Given the description of an element on the screen output the (x, y) to click on. 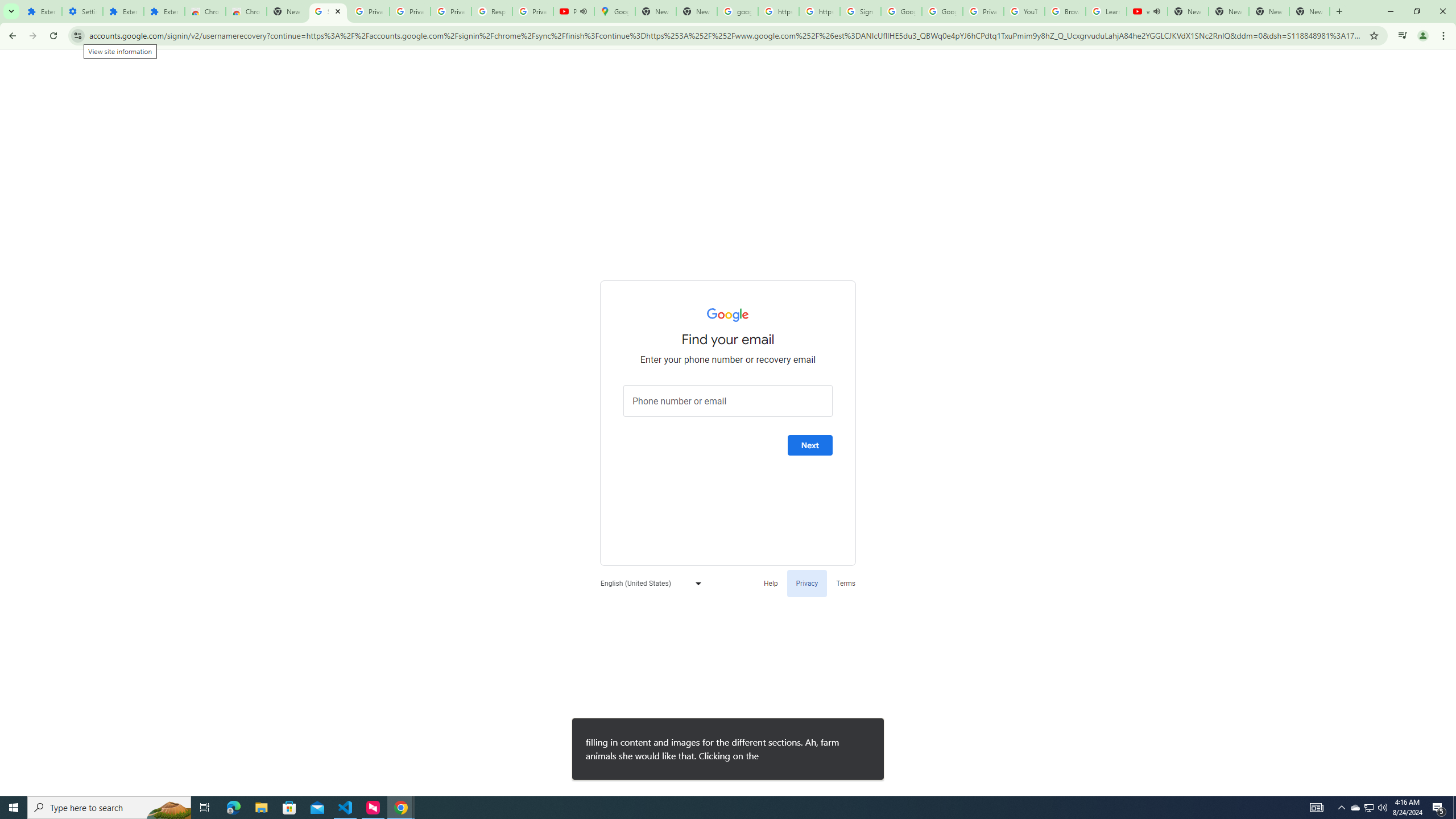
Browse Chrome as a guest - Computer - Google Chrome Help (1064, 11)
Google Maps (614, 11)
Extensions (122, 11)
Terms (845, 583)
Mute tab (1156, 10)
Sign in - Google Accounts (327, 11)
Settings (81, 11)
